Given the description of an element on the screen output the (x, y) to click on. 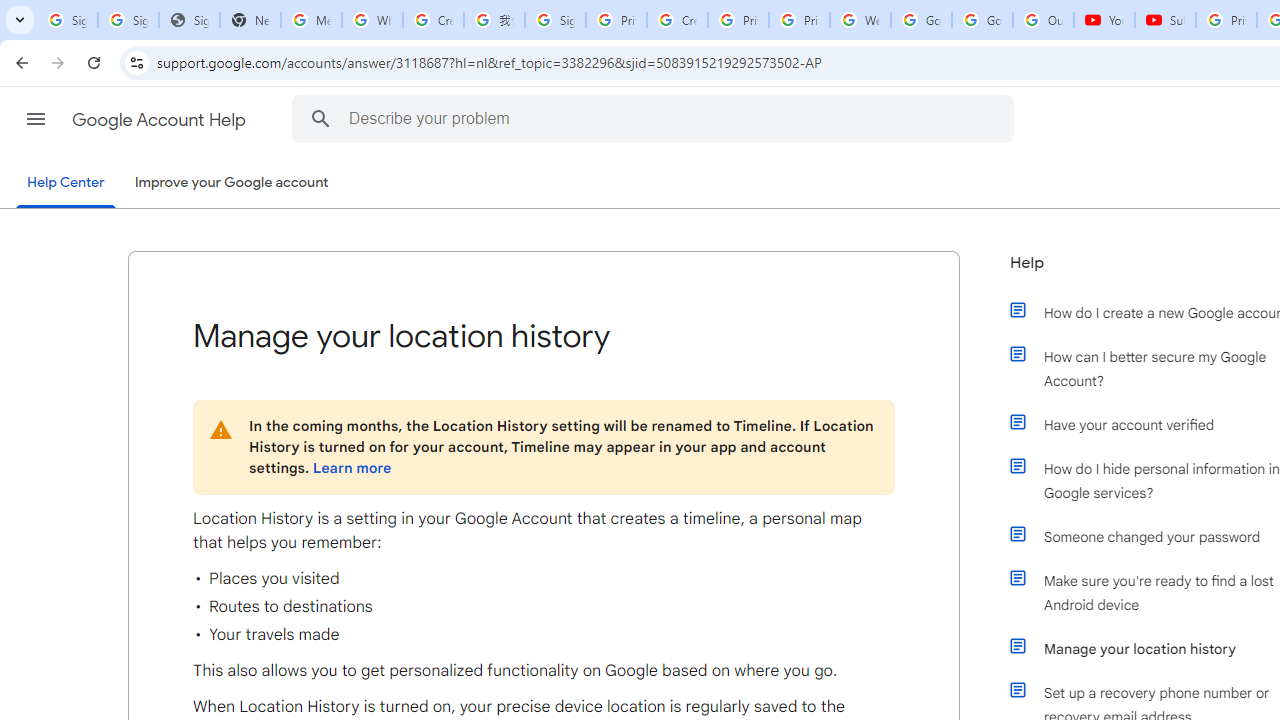
Welcome to My Activity (859, 20)
New Tab (250, 20)
Sign in - Google Accounts (555, 20)
